Given the description of an element on the screen output the (x, y) to click on. 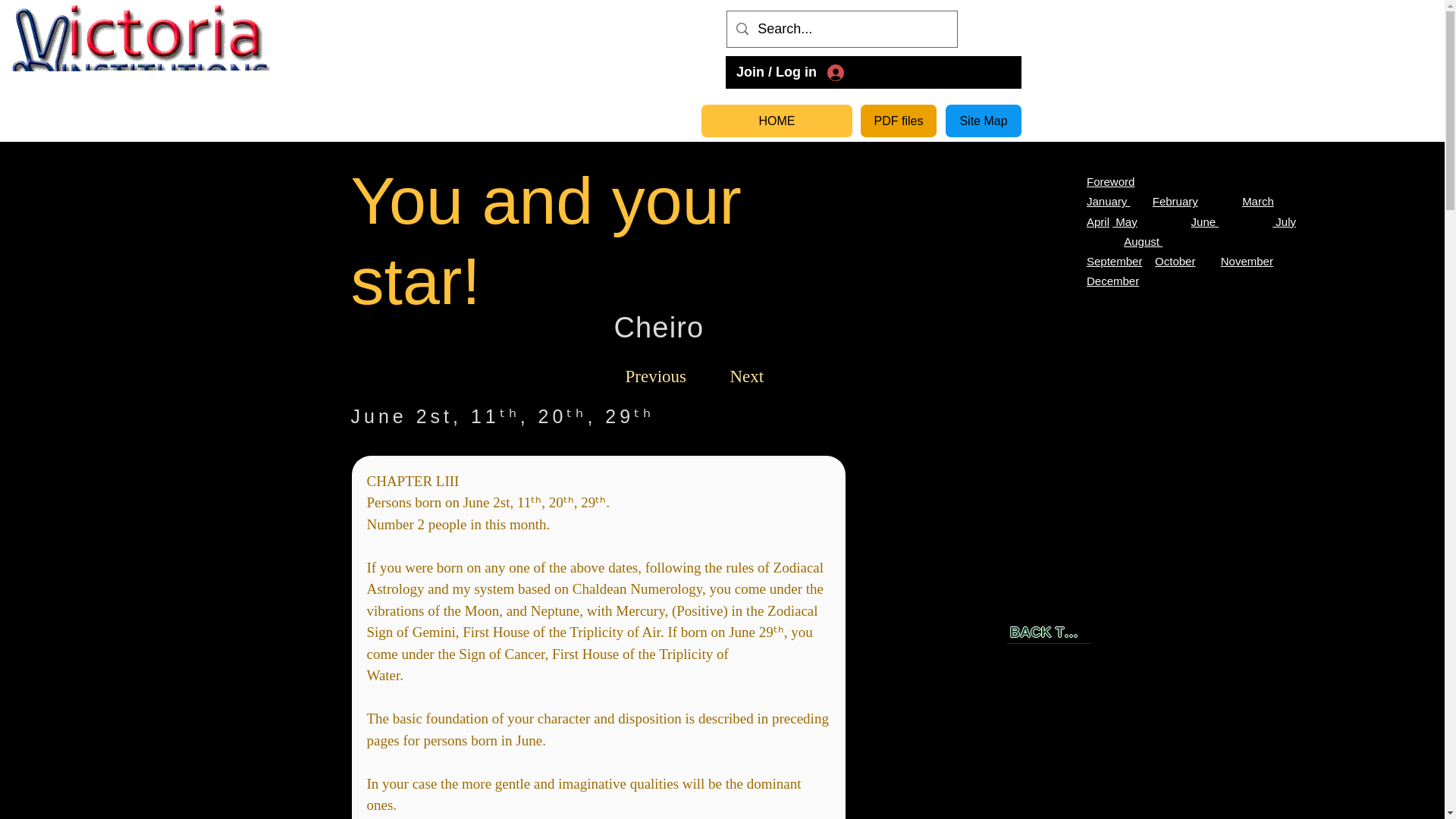
March (1257, 201)
Foreword (1110, 181)
January (1108, 201)
June  (1205, 221)
Site Map (983, 120)
Next (745, 375)
 May (1124, 221)
HOME (776, 120)
BACK TO TOP (1048, 631)
November (1246, 260)
